Given the description of an element on the screen output the (x, y) to click on. 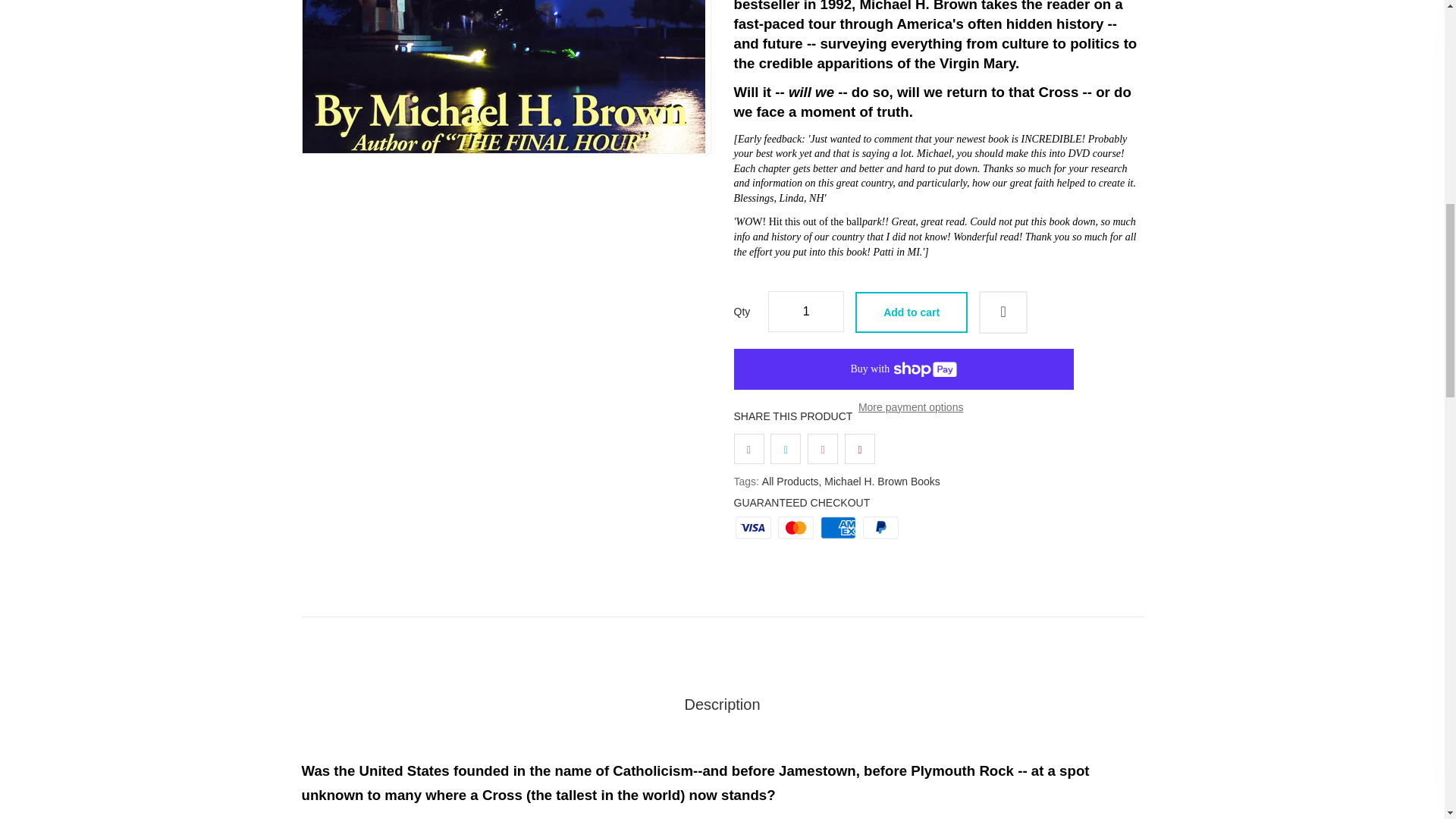
Wishlist (1002, 312)
Follow us on Pinterest (859, 449)
Follow us on Twitter (785, 449)
Follow us on Facebook (748, 449)
1 (806, 311)
